Given the description of an element on the screen output the (x, y) to click on. 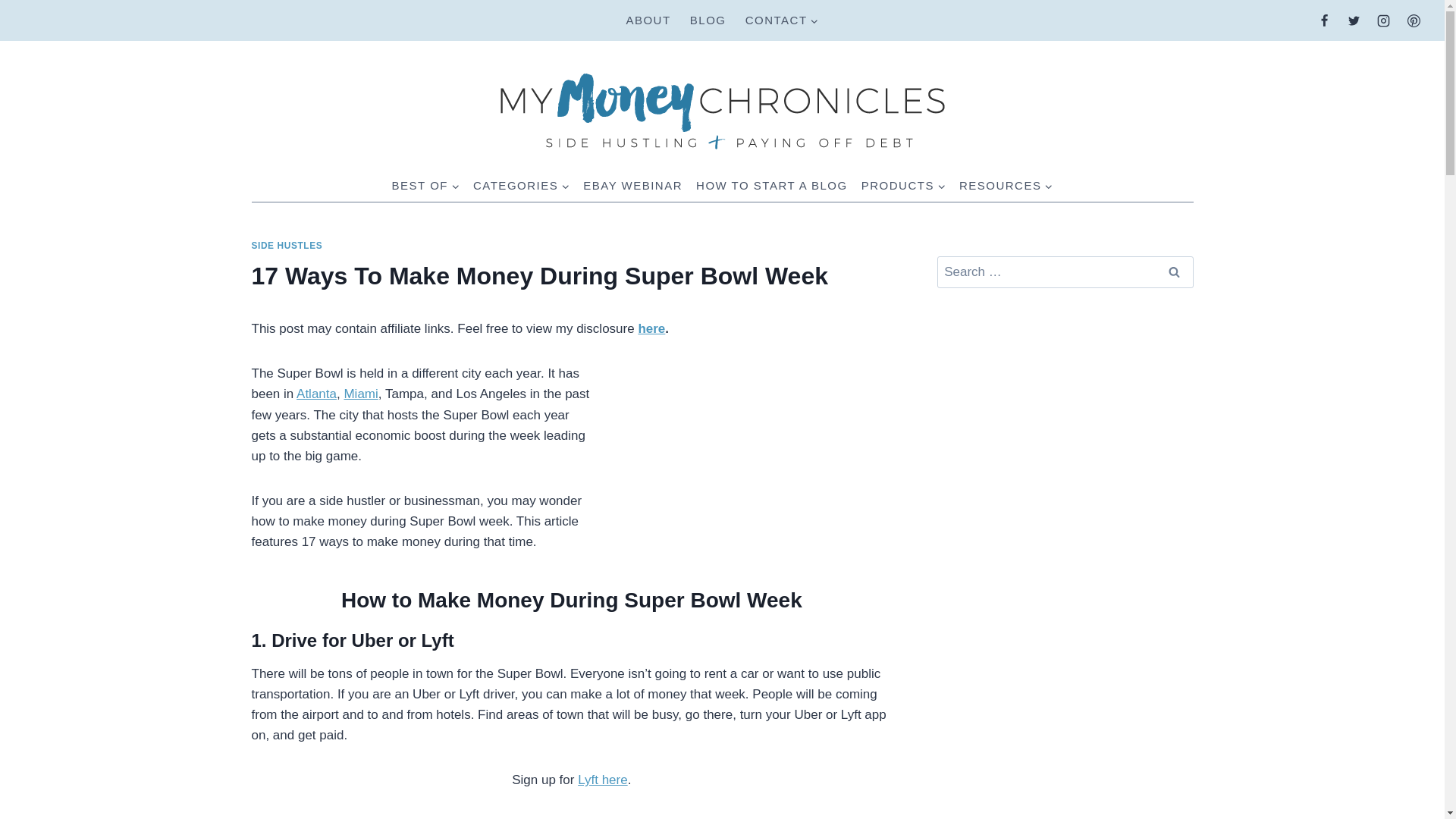
HOW TO START A BLOG (771, 185)
CATEGORIES (520, 185)
BLOG (707, 20)
here (651, 328)
Atlanta (316, 393)
Search (1174, 272)
SIDE HUSTLES (287, 245)
Search (1174, 272)
BEST OF (425, 185)
Miami (360, 393)
PRODUCTS (903, 185)
EBAY WEBINAR (632, 185)
CONTACT (781, 20)
ABOUT (647, 20)
RESOURCES (1005, 185)
